Given the description of an element on the screen output the (x, y) to click on. 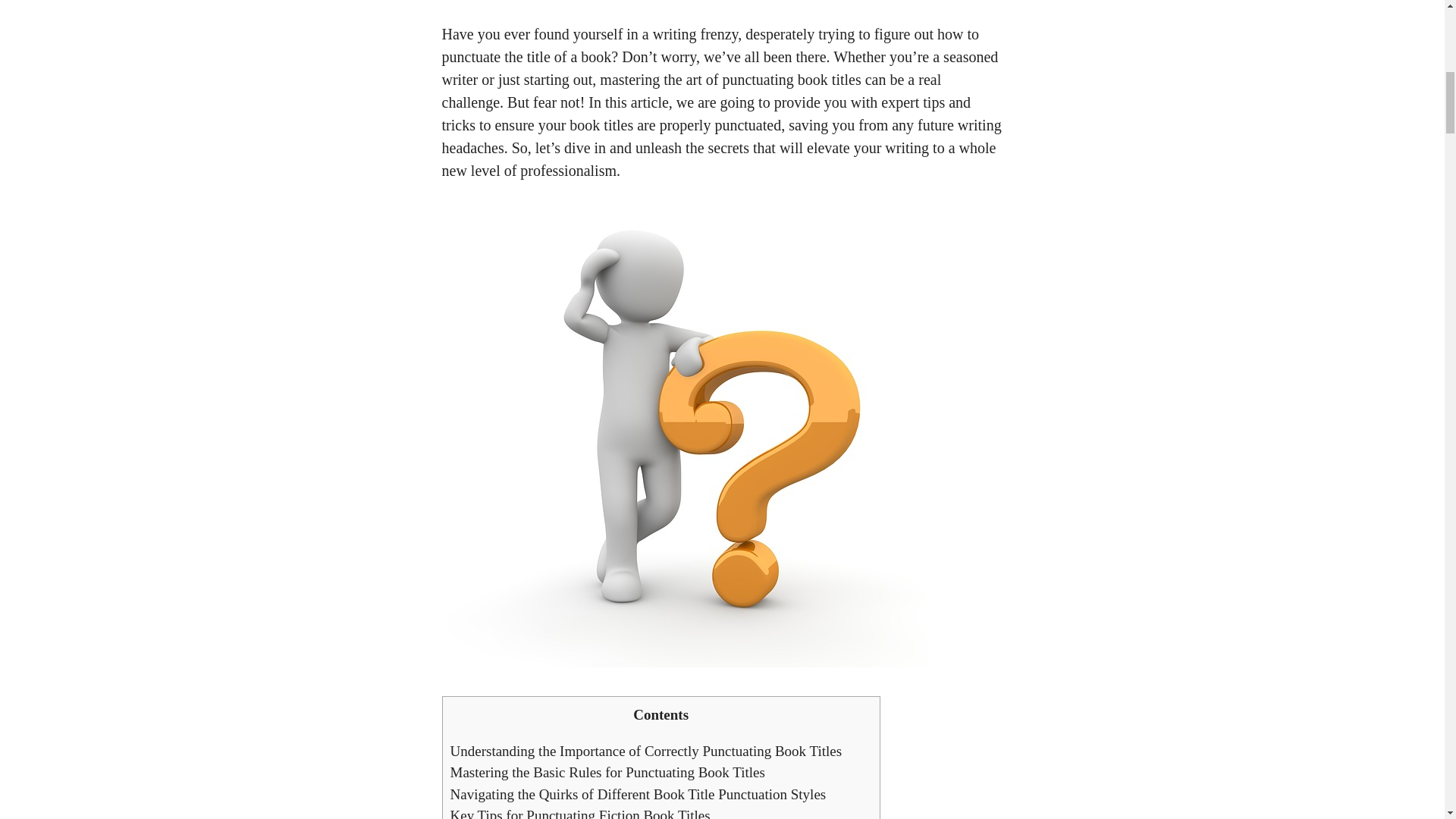
punctuating book titles (791, 79)
Mastering the Basic Rules for Punctuating Book Titles (607, 772)
Key Tips for Punctuating Fiction Book Titles (579, 813)
